Given the description of an element on the screen output the (x, y) to click on. 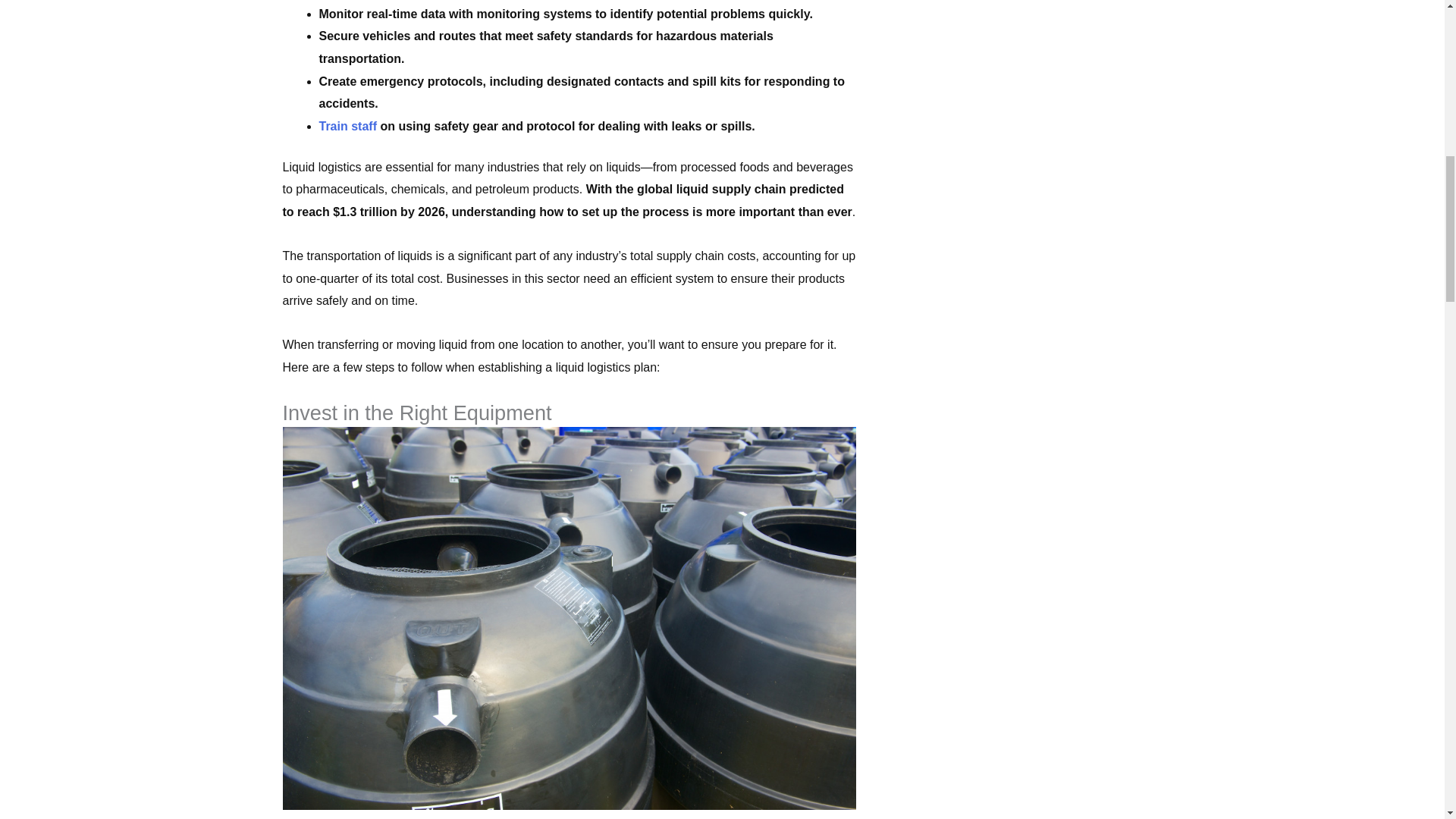
Train staff (346, 125)
